Given the description of an element on the screen output the (x, y) to click on. 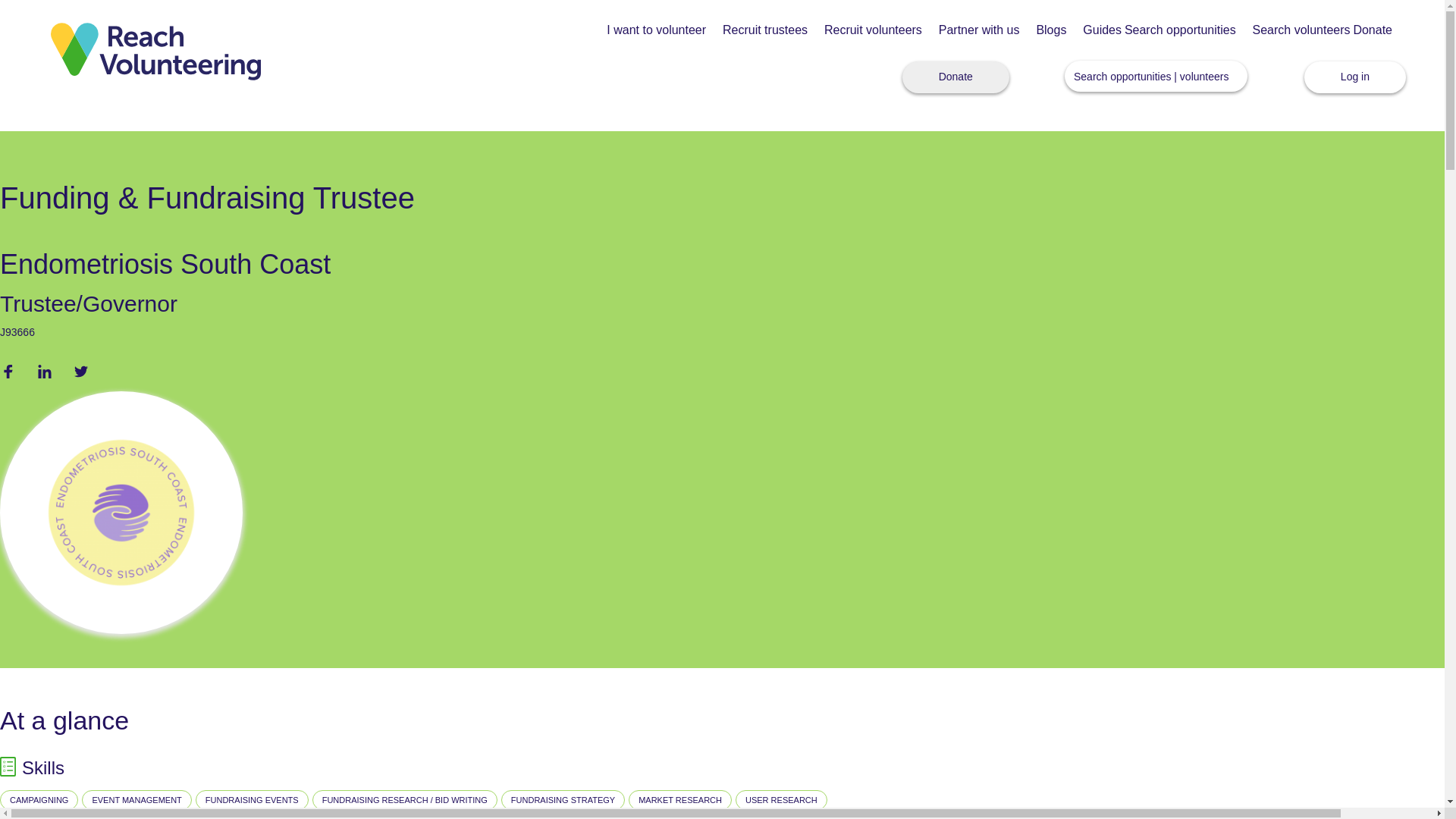
Donate (1371, 29)
Guides (1102, 29)
Recruit trustees (765, 29)
Search opportunities (1180, 29)
I want to volunteer (656, 29)
Recruit volunteers (872, 29)
Log in (1355, 77)
opportunities (1139, 76)
volunteers (1203, 76)
Partner with us (979, 29)
Endometriosis South Coast (165, 264)
Search volunteers (1301, 29)
Home (155, 50)
Blogs (1050, 29)
Donate (955, 77)
